Given the description of an element on the screen output the (x, y) to click on. 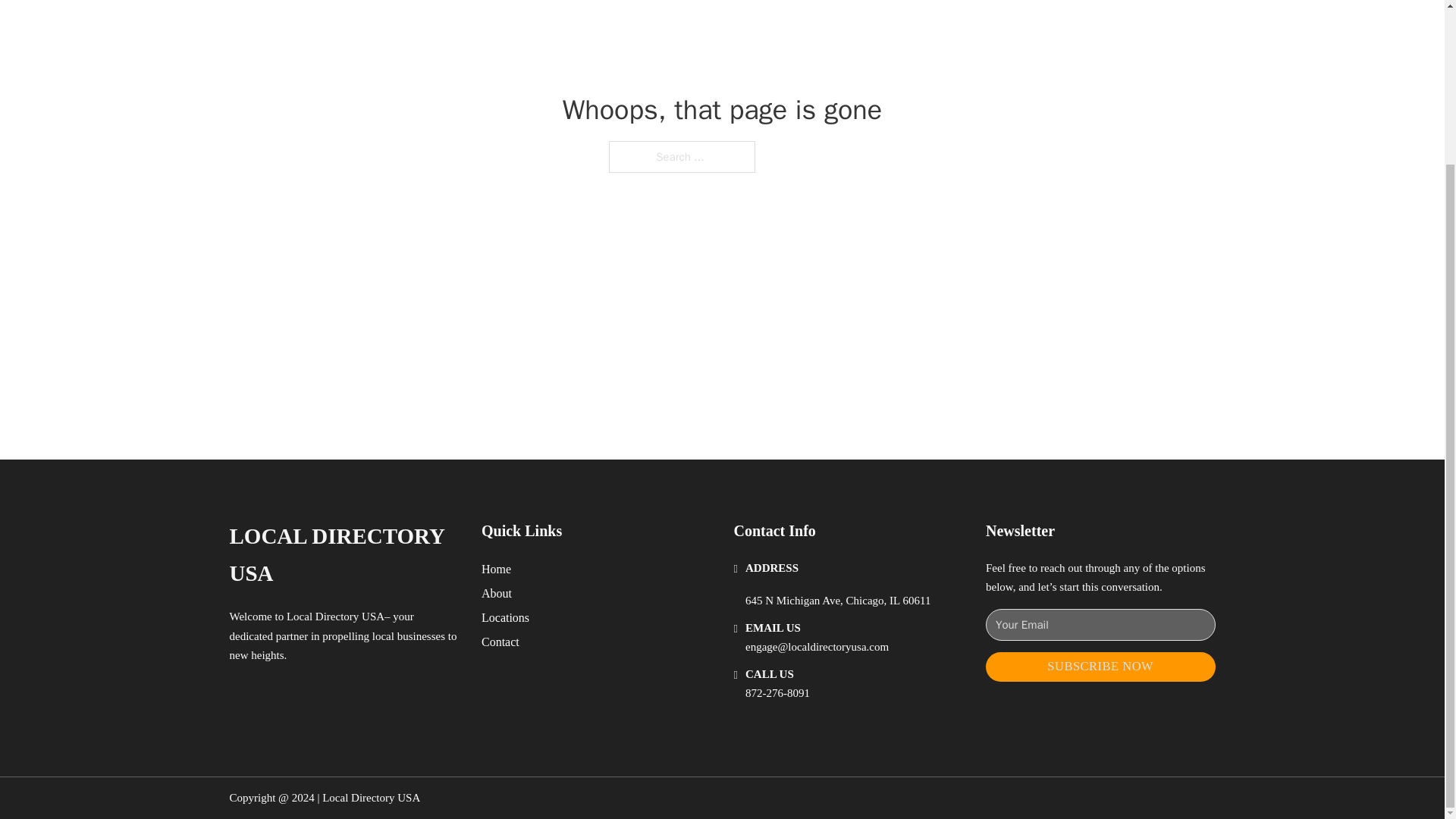
Locations (505, 617)
SUBSCRIBE NOW (1100, 666)
Contact (500, 641)
872-276-8091 (777, 693)
Home (496, 568)
LOCAL DIRECTORY USA (343, 554)
About (496, 593)
